Given the description of an element on the screen output the (x, y) to click on. 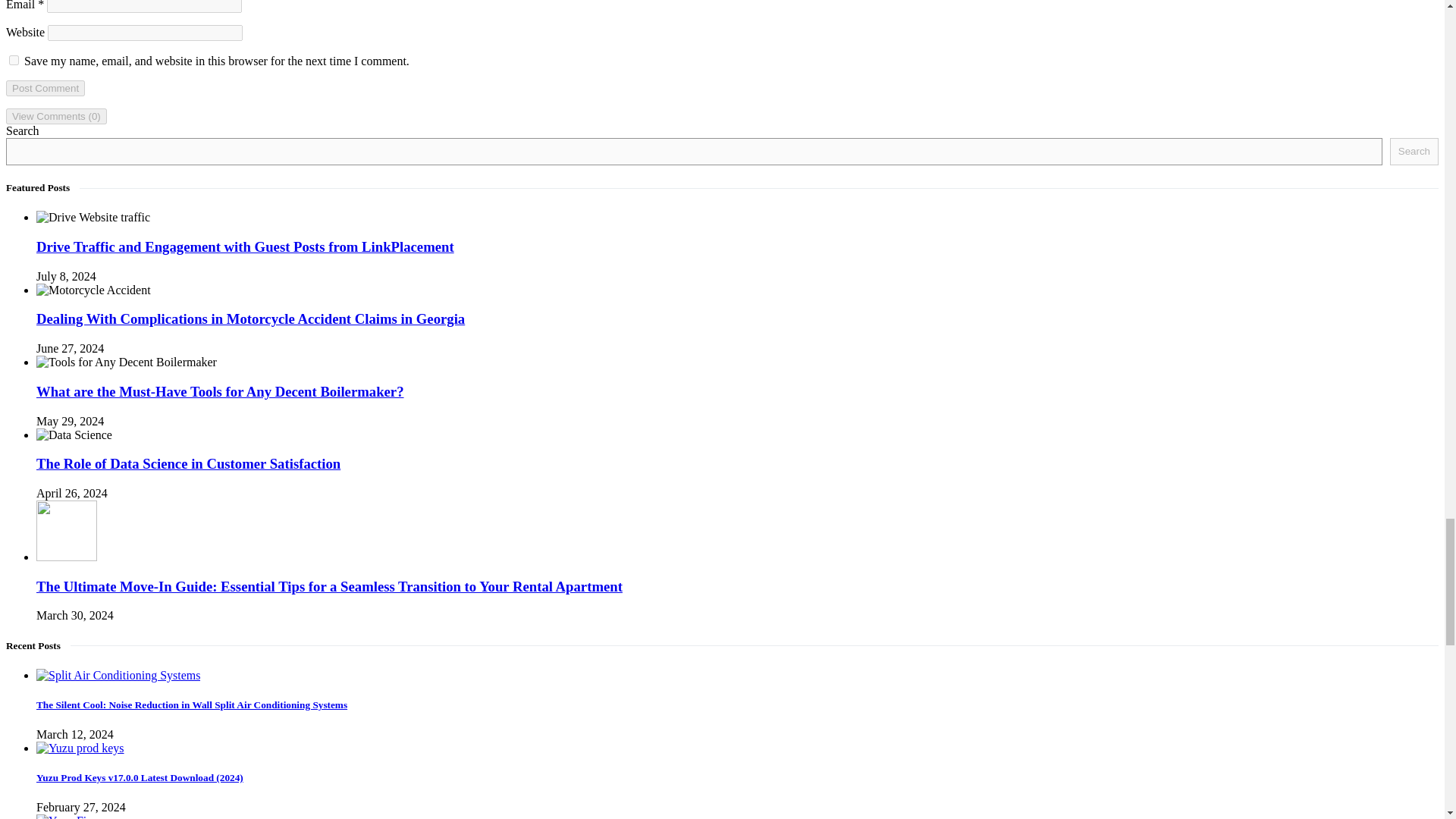
Post Comment (44, 88)
yes (13, 60)
